Given the description of an element on the screen output the (x, y) to click on. 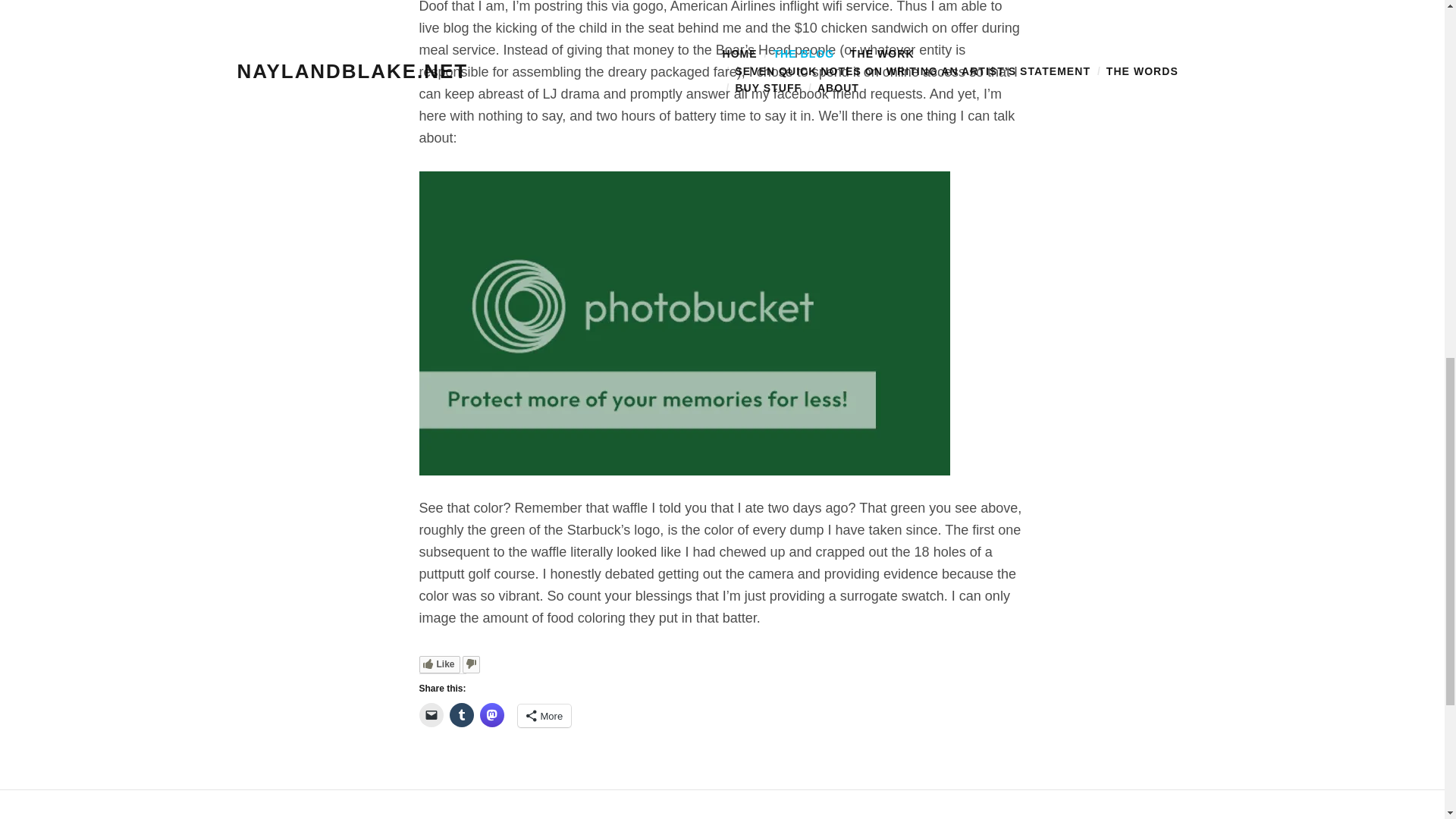
Click to share on Tumblr (460, 714)
Click to share on Mastodon (491, 714)
More (543, 715)
Click to email a link to a friend (430, 714)
